Given the description of an element on the screen output the (x, y) to click on. 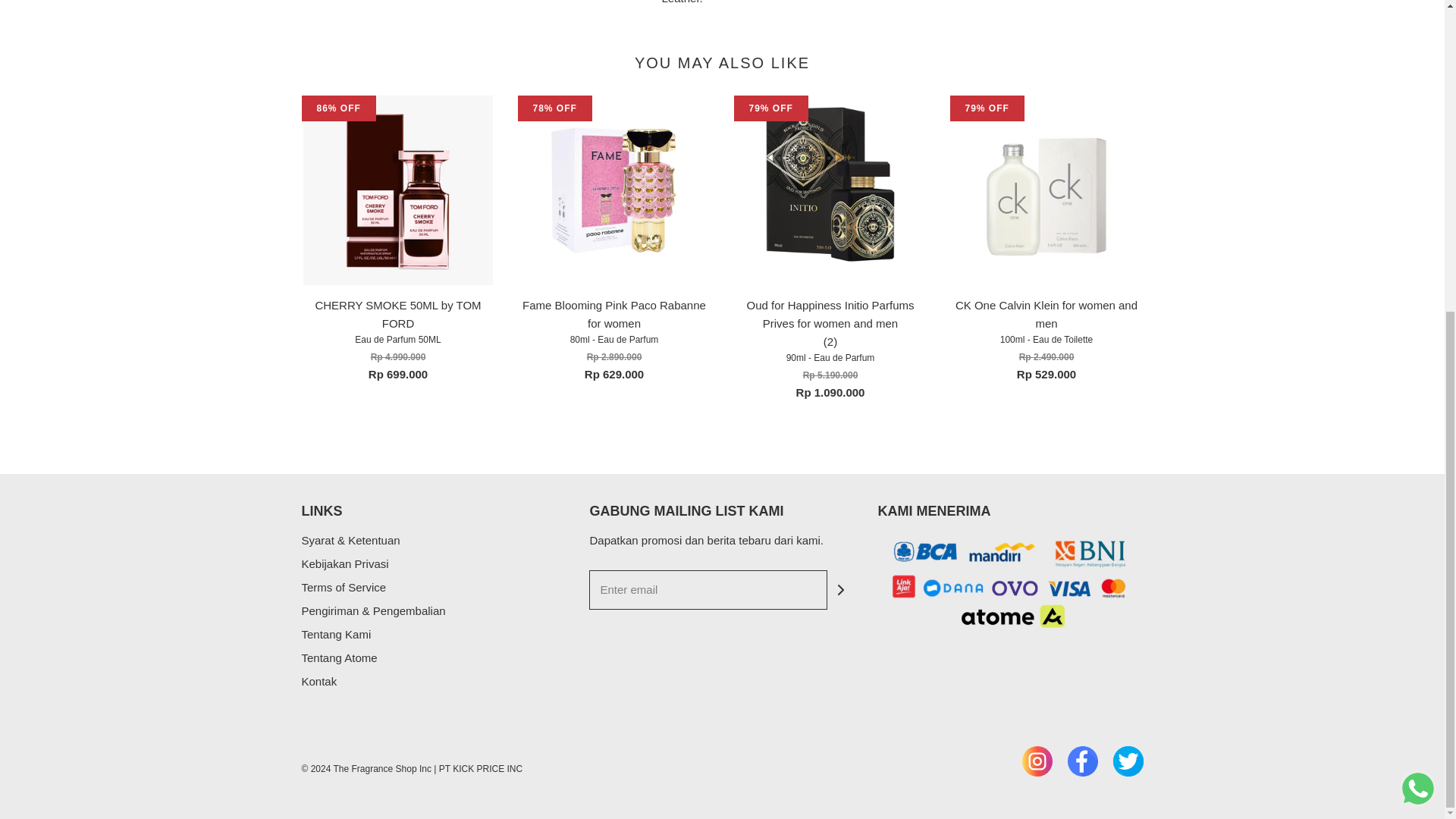
CHERRY SMOKE 50ML by TOM FORD (398, 190)
Fame Blooming Pink Paco Rabanne for women (613, 190)
Oud for Happiness Initio Parfums Prives for women and men (830, 190)
CK One Calvin Klein for women and men (1045, 190)
